Given the description of an element on the screen output the (x, y) to click on. 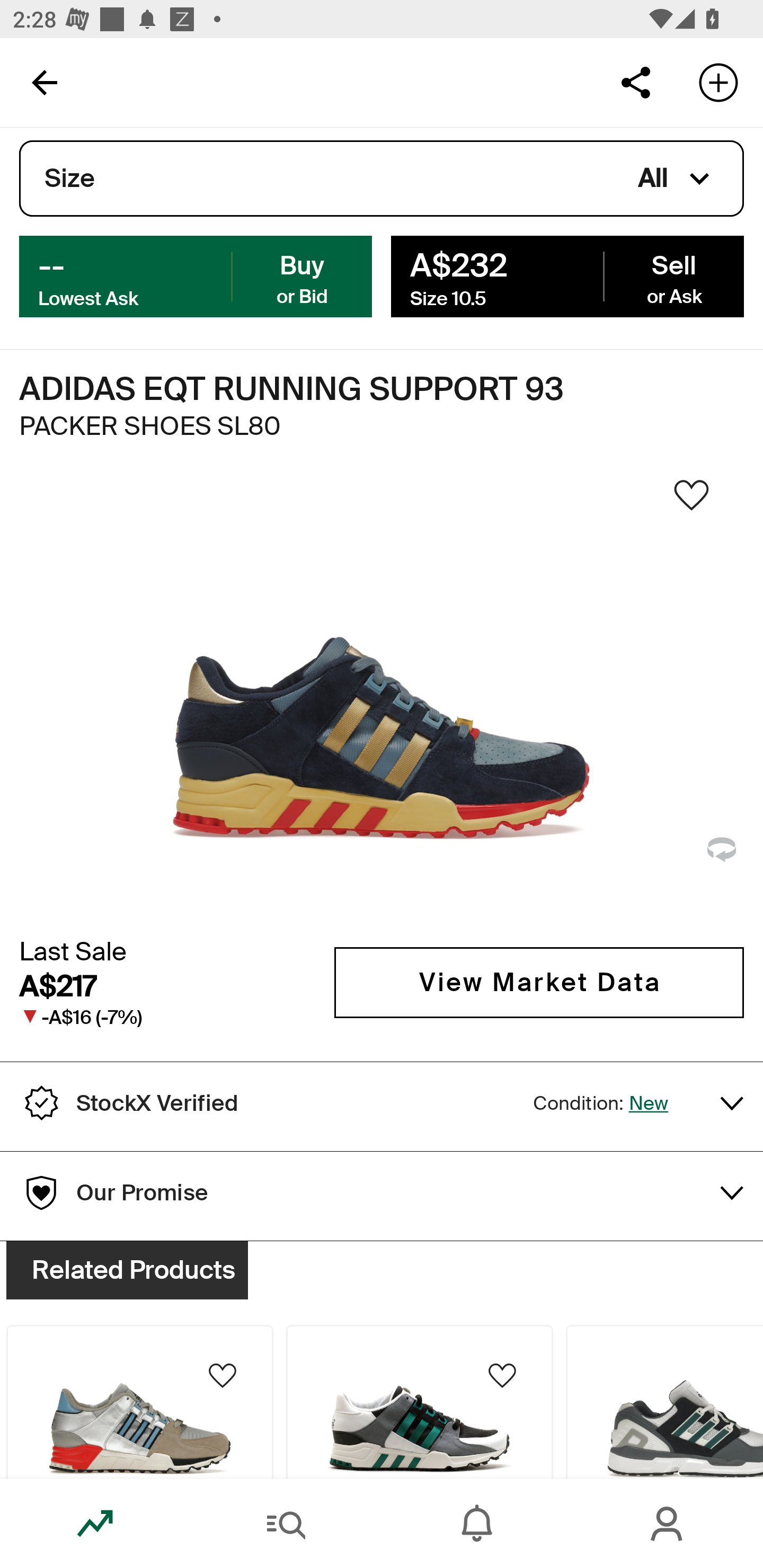
Share (635, 81)
Add (718, 81)
Size All (381, 178)
-- Buy Lowest Ask or Bid (195, 275)
A$232 Sell Size 10.5 or Ask (566, 275)
Sneaker Image (381, 699)
View Market Data (538, 982)
Product Image (139, 1401)
Product Image (419, 1401)
Product Image (664, 1401)
Search (285, 1523)
Inbox (476, 1523)
Account (667, 1523)
